Given the description of an element on the screen output the (x, y) to click on. 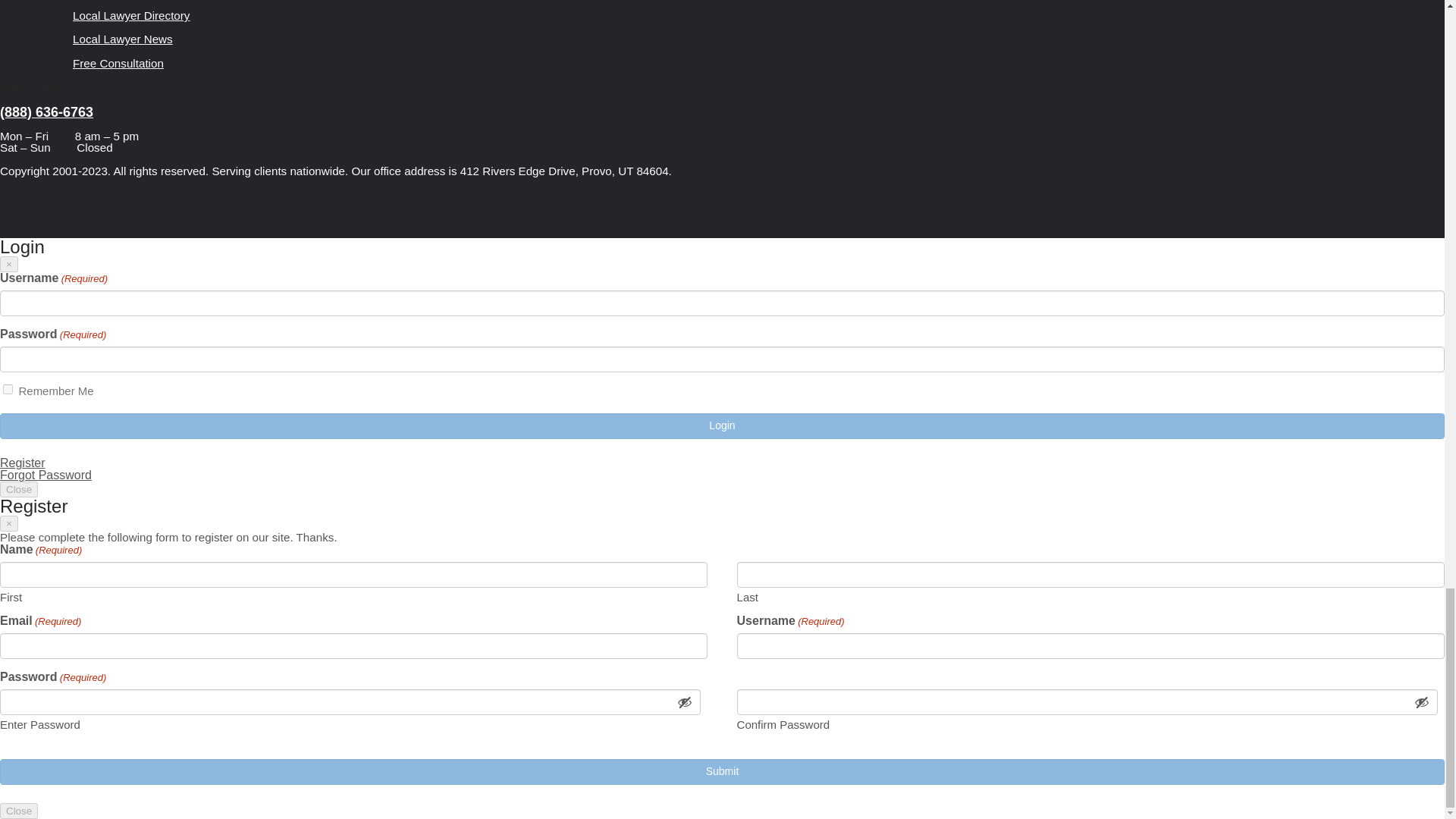
Close (18, 489)
Register (22, 462)
Forgot Password (45, 474)
Register (22, 462)
Forgot Password (45, 474)
Local Lawyer Directory (131, 15)
1 (7, 388)
Free Consultation (118, 62)
Local Lawyer News (122, 38)
